Given the description of an element on the screen output the (x, y) to click on. 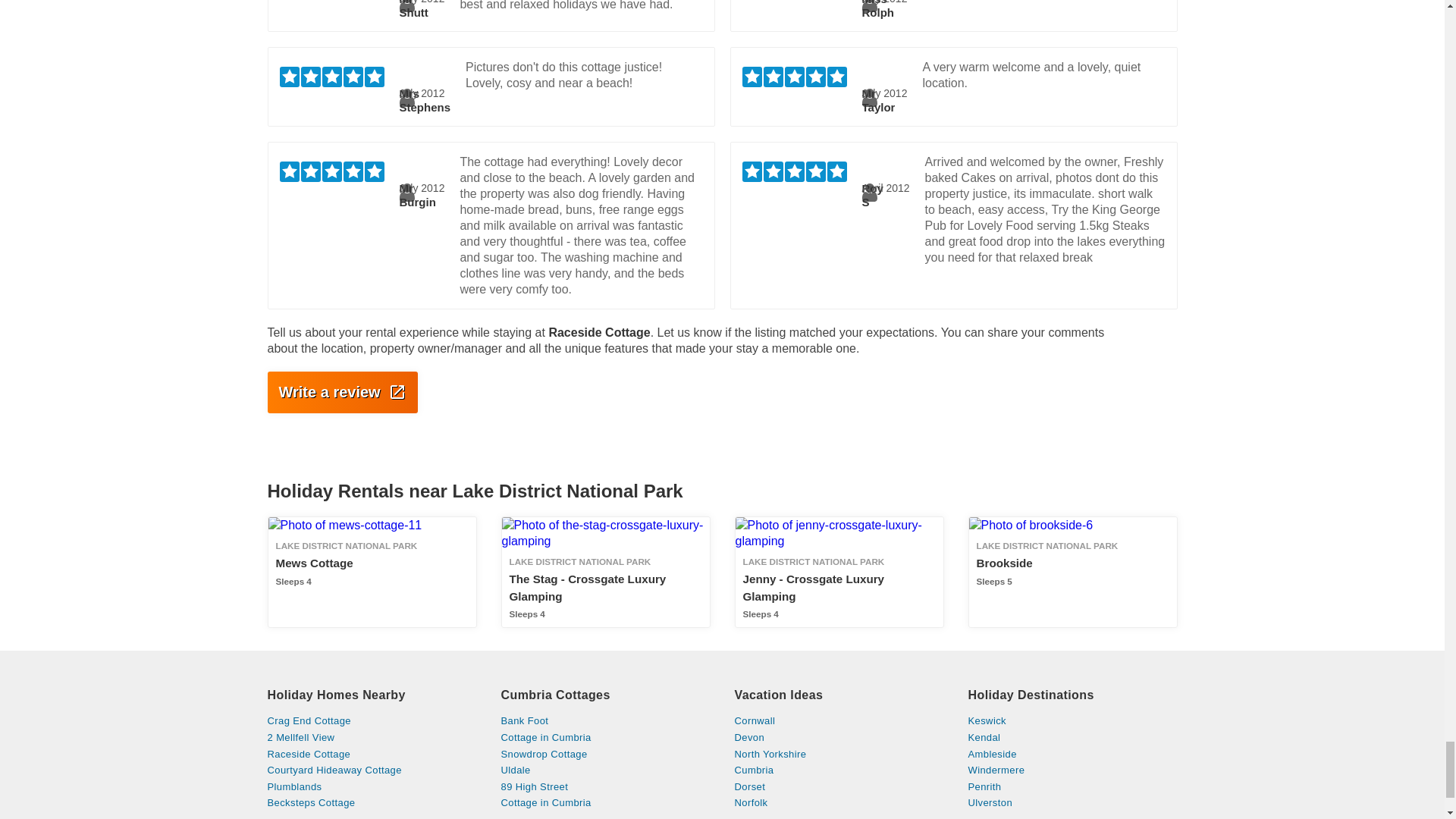
Self-catering Uldale (605, 770)
Plumblands (371, 787)
Self-catering 89 High Street (371, 572)
Self-catering Snowdrop Cottage (605, 787)
Snowdrop Cottage (1072, 572)
Self-catering Becksteps Cottage (605, 754)
Self-catering Cottage in Cumbria (605, 754)
Courtyard Hideaway Cottage (371, 802)
Becksteps Cottage (605, 802)
89 High Street (371, 770)
Write a review (371, 802)
Self-catering Cottage in Cumbria (605, 787)
